Given the description of an element on the screen output the (x, y) to click on. 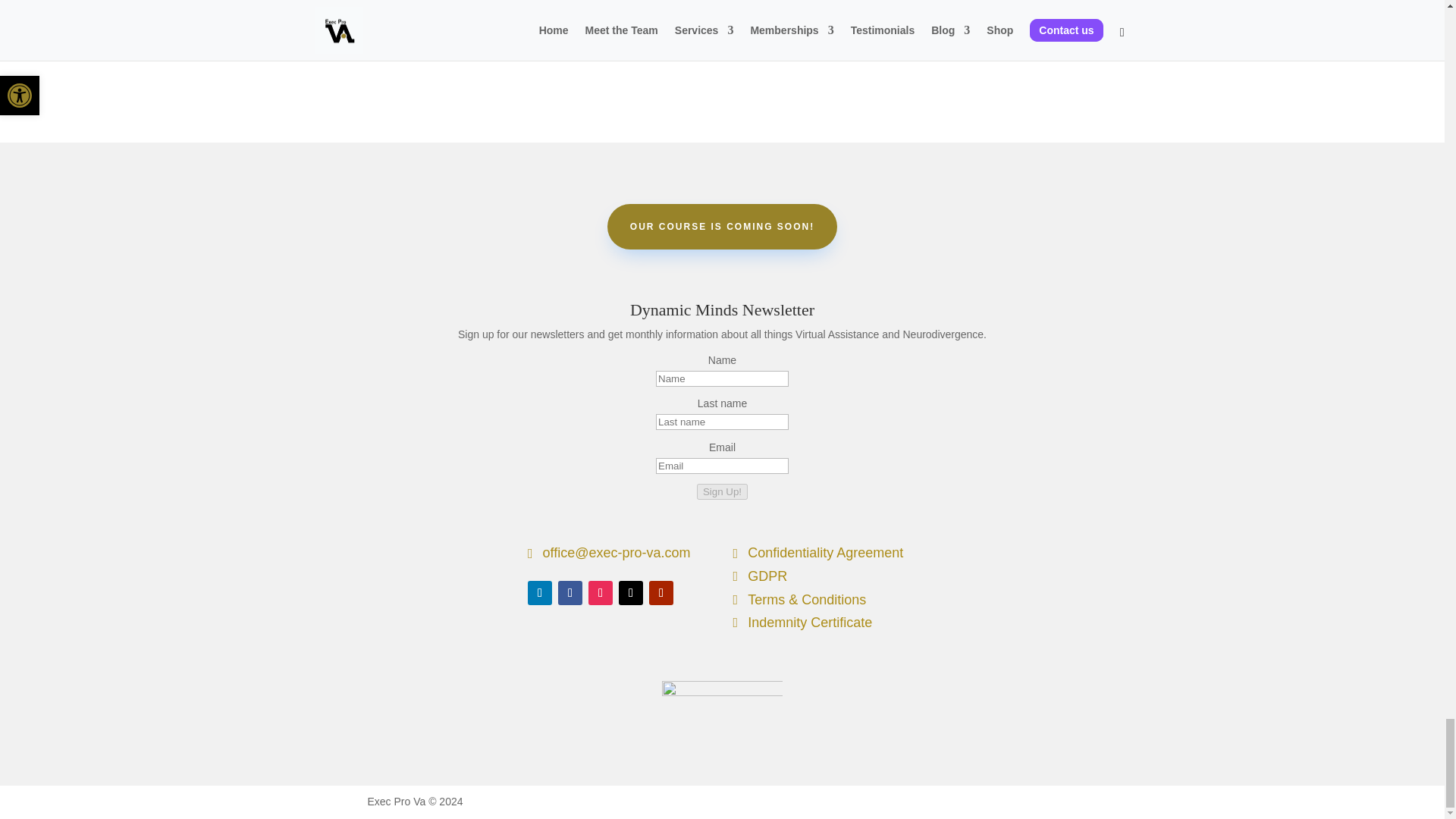
social-image-288363 (691, 40)
Follow on LinkedIn (539, 592)
Follow on X (630, 592)
Sign Up! (722, 491)
Follow on Instagram (600, 592)
Follow on Facebook (569, 592)
Follow on Youtube (660, 592)
OUR COURSE IS COMING SOON! (722, 226)
